Given the description of an element on the screen output the (x, y) to click on. 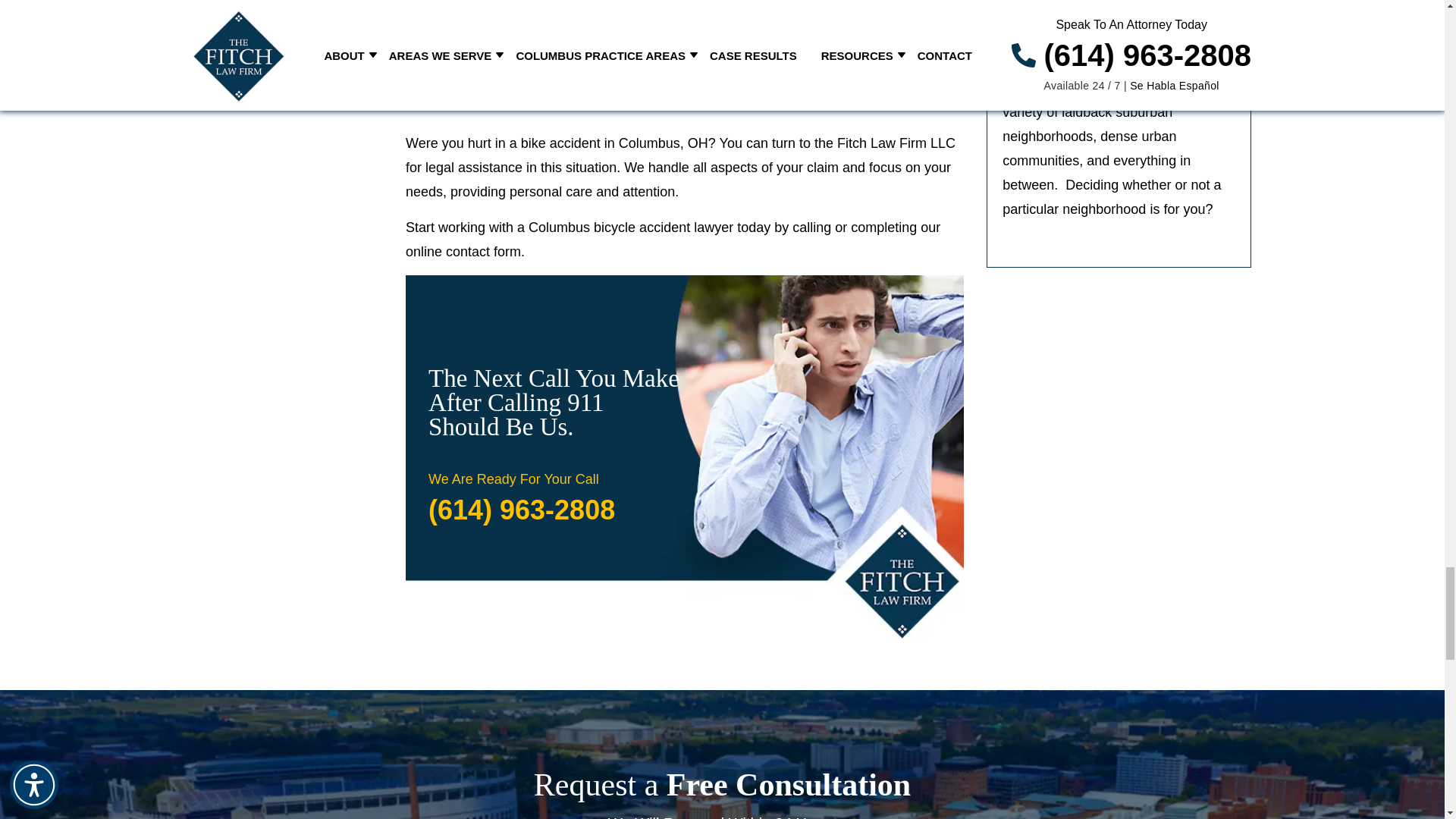
Columbus, Ohio Best and Worst Neighborhoods (1118, 30)
